Given the description of an element on the screen output the (x, y) to click on. 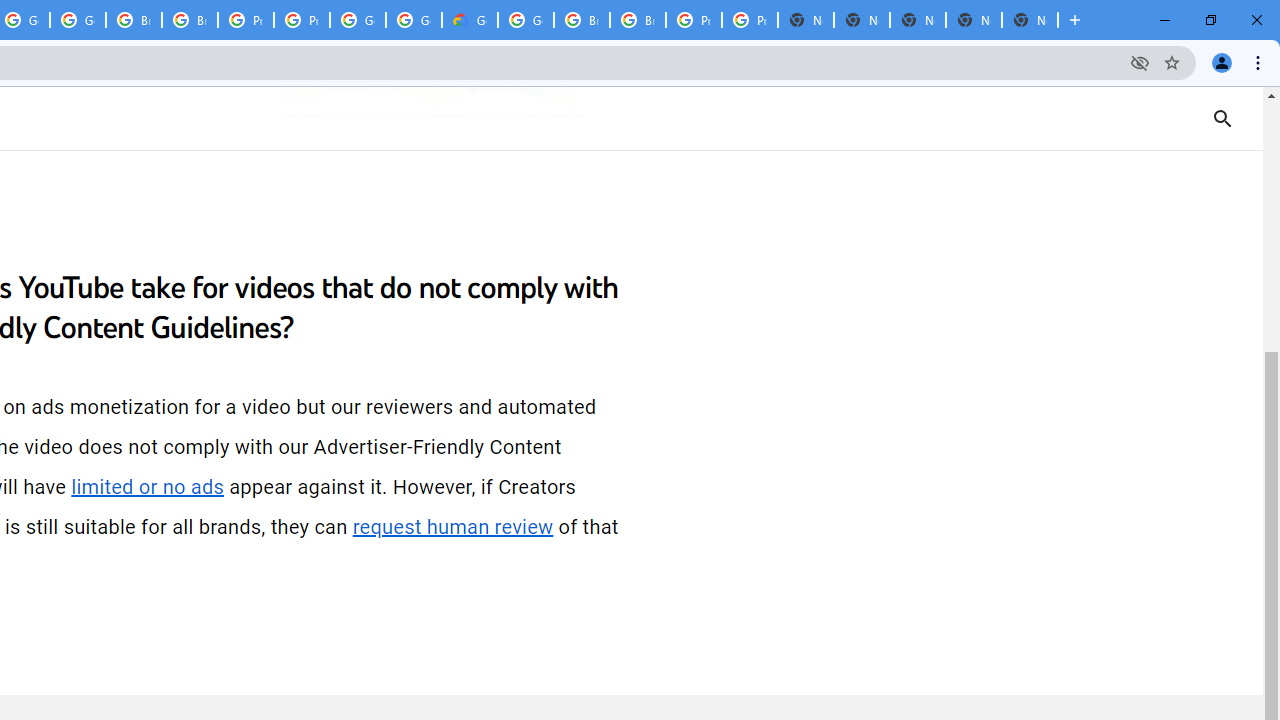
Restore (1210, 20)
New Tab (1075, 20)
Browse Chrome as a guest - Computer - Google Chrome Help (637, 20)
Search (1222, 118)
Browse Chrome as a guest - Computer - Google Chrome Help (134, 20)
limited or no ads (147, 487)
Third-party cookies blocked (1139, 62)
Browse Chrome as a guest - Computer - Google Chrome Help (582, 20)
Minimize (1165, 20)
Google Cloud Estimate Summary (469, 20)
